Given the description of an element on the screen output the (x, y) to click on. 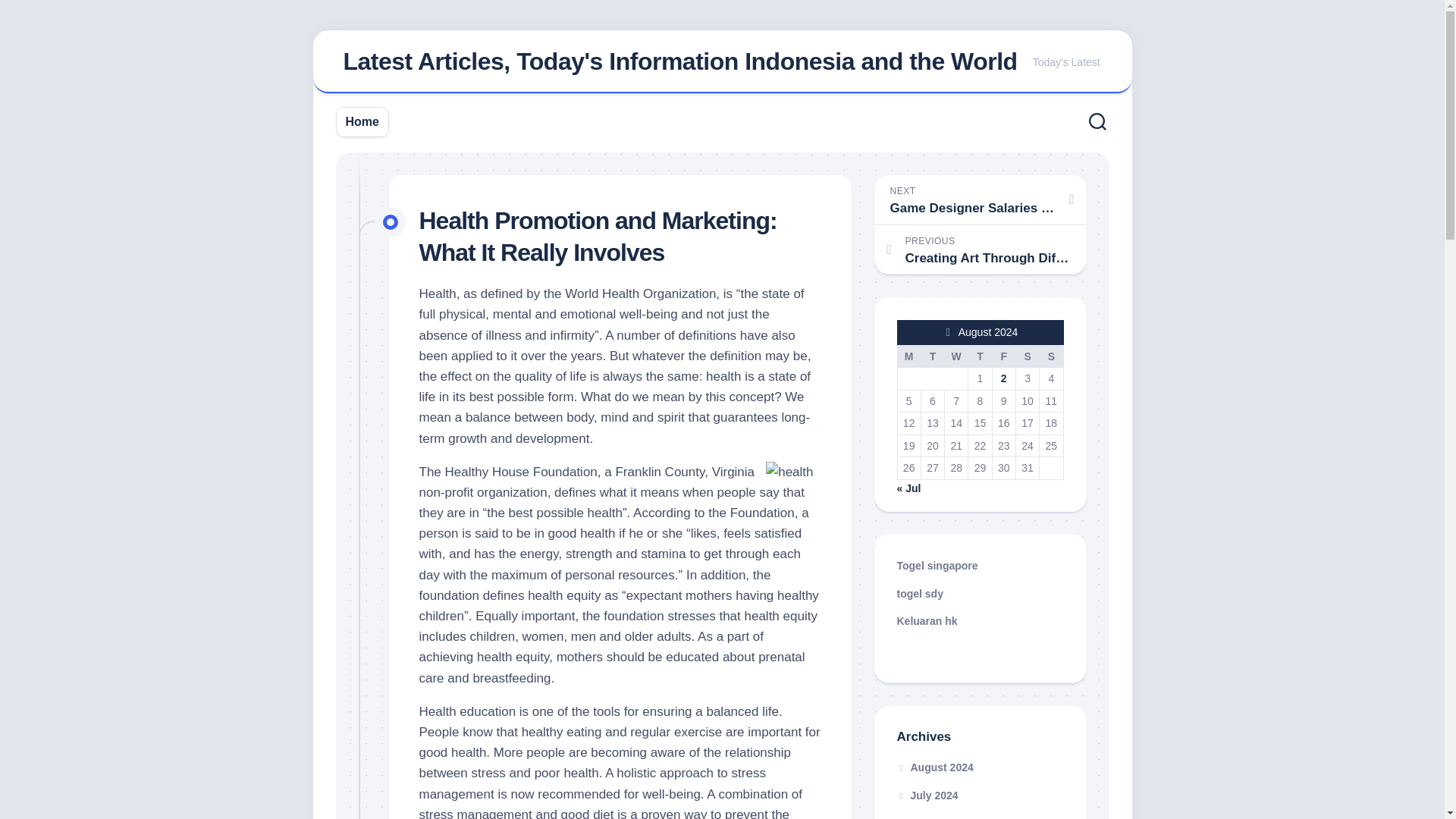
Togel singapore (979, 199)
togel sdy (936, 565)
July 2024 (919, 592)
June 2024 (927, 795)
Friday (928, 818)
Monday (1002, 355)
Latest Articles, Today's Information Indonesia and the World (908, 355)
Keluaran hk (679, 61)
August 2024 (926, 621)
Tuesday (934, 767)
Saturday (931, 355)
Home (1026, 355)
